Given the description of an element on the screen output the (x, y) to click on. 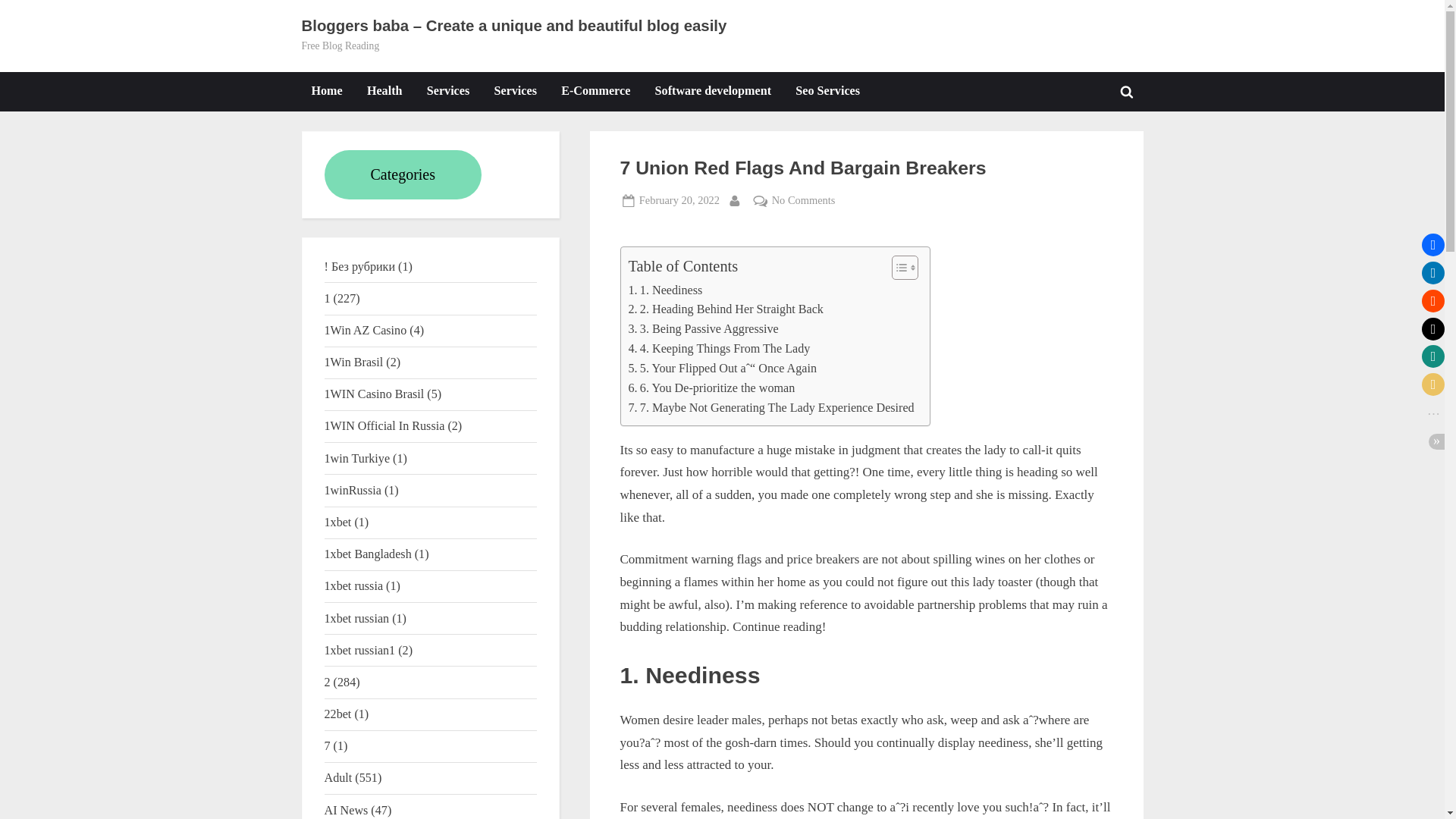
1xbet Bangladesh (368, 553)
1. Neediness (664, 290)
Services (447, 91)
6. You De-prioritize the woman (710, 388)
Seo Services (827, 91)
Categories (402, 174)
1Win AZ Casino (365, 329)
7. Maybe Not Generating The Lady Experience Desired (770, 407)
1WIN Official In Russia (384, 425)
1xbet (338, 521)
4. Keeping Things From The Lady (718, 348)
1win Turkiye (357, 458)
6. You De-prioritize the woman (803, 199)
3. Being Passive Aggressive (710, 388)
